Given the description of an element on the screen output the (x, y) to click on. 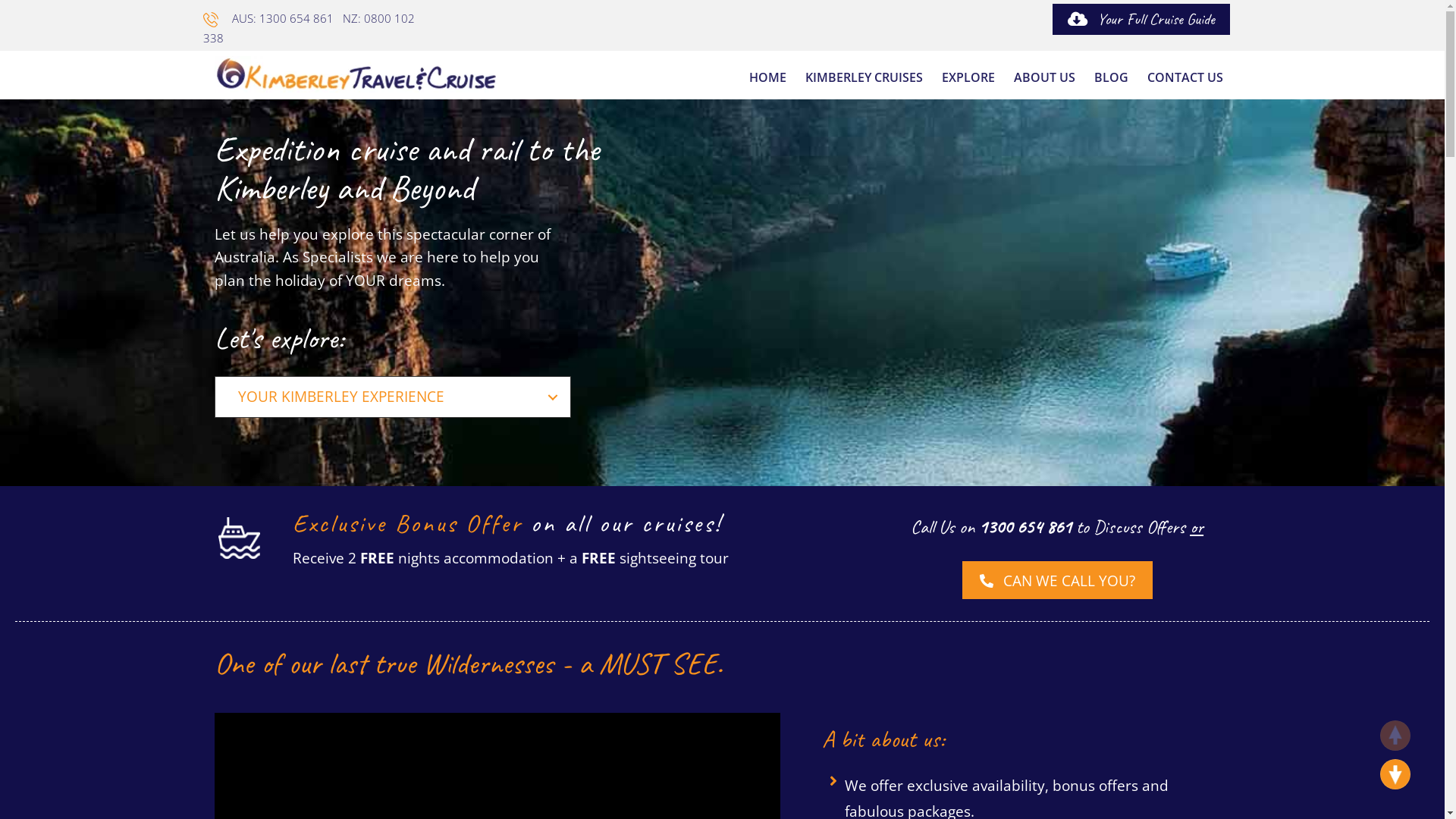
CONTACT US Element type: text (1184, 77)
1300 654 861 Element type: text (296, 17)
DOWN Element type: text (1395, 774)
UP Element type: text (1395, 735)
Kimberley Trave & Cruise logo slim Element type: hover (355, 74)
YOUR KIMBERLEY EXPERIENCE Element type: text (392, 396)
1300 654 861 Element type: text (1025, 526)
ABOUT US Element type: text (1043, 77)
0800 102 338 Element type: text (308, 27)
CAN WE CALL YOU? Element type: text (1057, 580)
BLOG Element type: text (1110, 77)
KIMBERLEY CRUISES Element type: text (863, 77)
EXPLORE Element type: text (968, 77)
HOME Element type: text (767, 77)
Your Full Cruise Guide Element type: text (1141, 18)
